Given the description of an element on the screen output the (x, y) to click on. 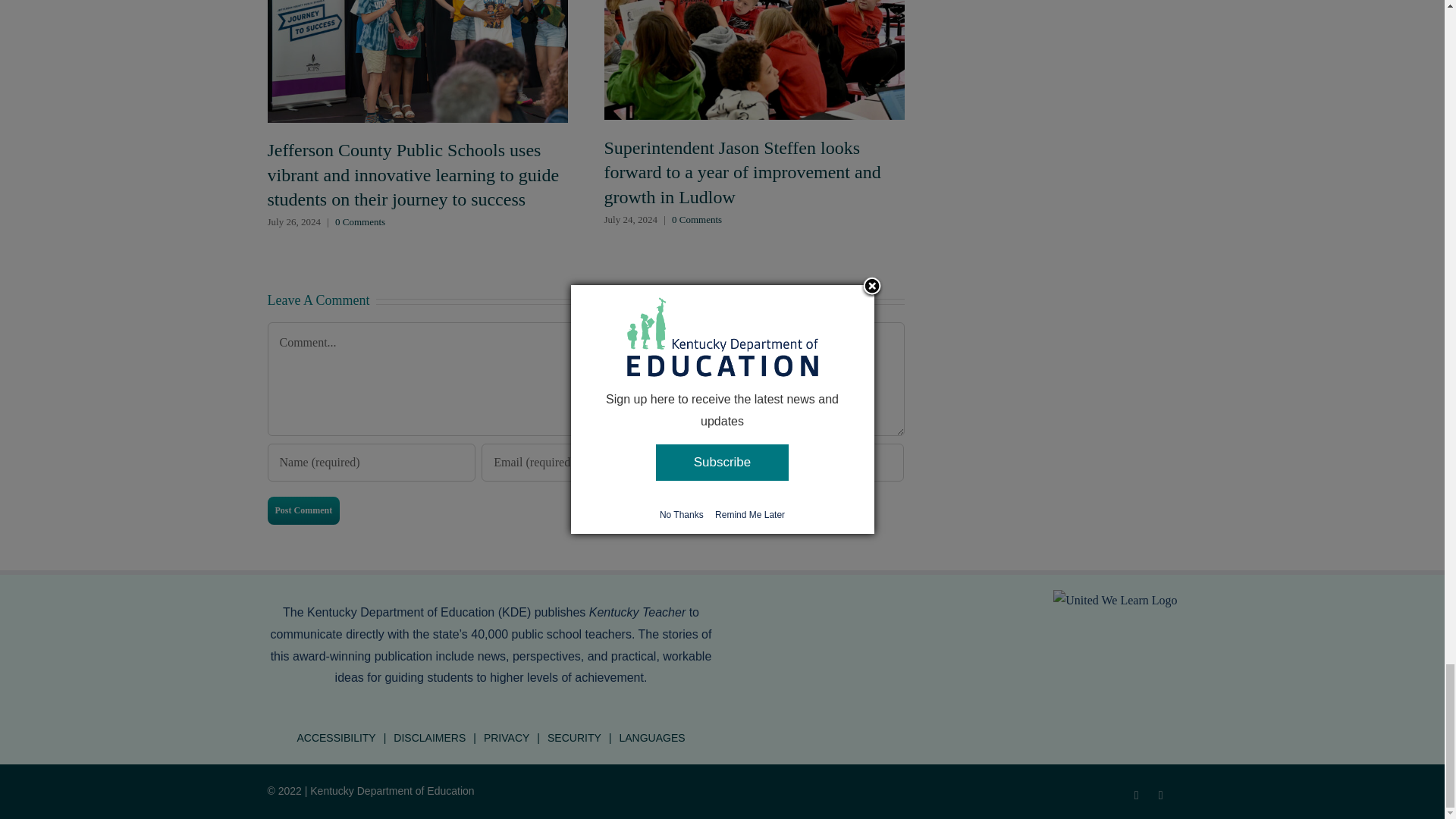
Post Comment (302, 510)
